Given the description of an element on the screen output the (x, y) to click on. 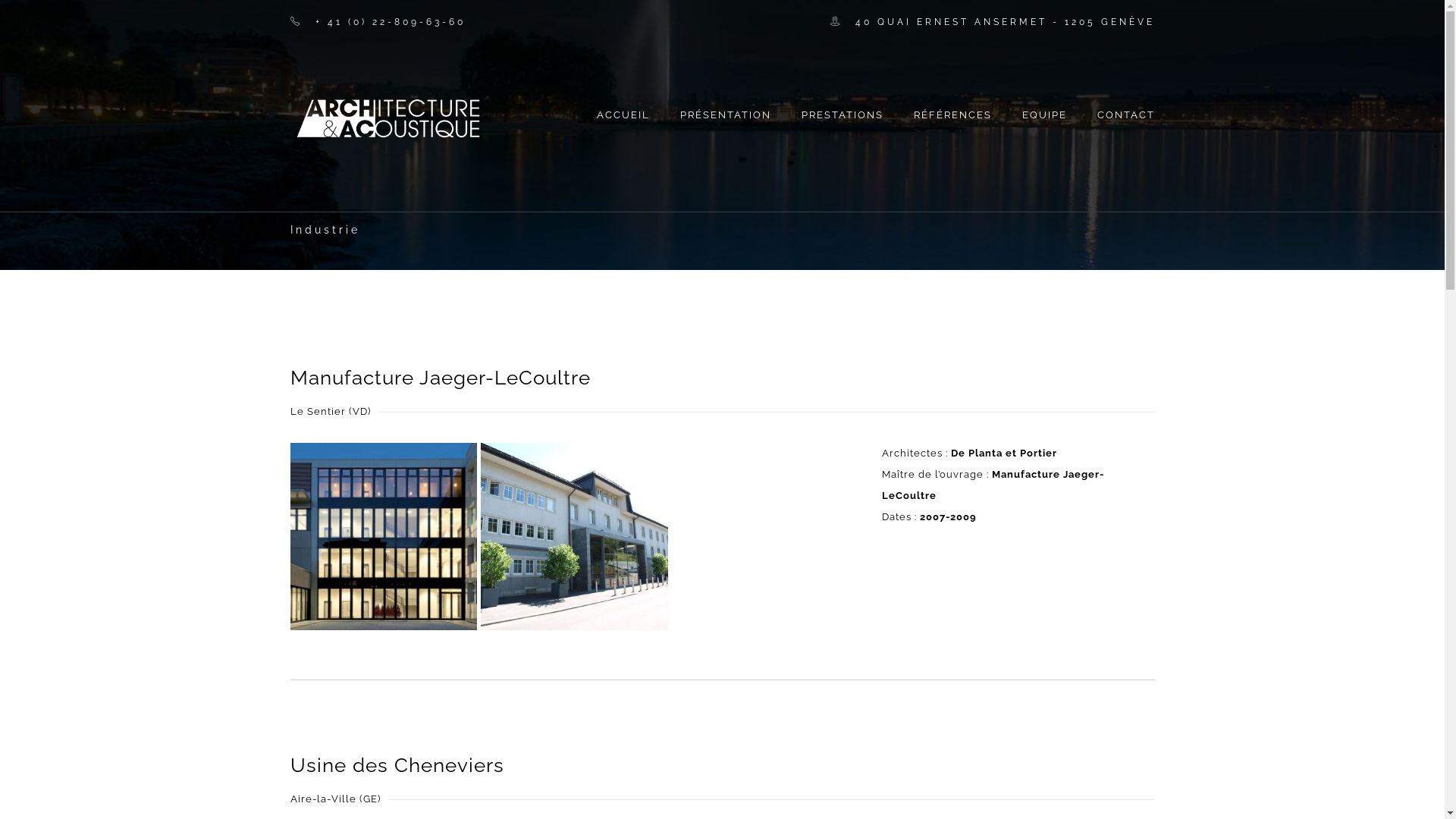
ACCUEIL Element type: text (622, 106)
CONTACT Element type: text (1117, 106)
Jaeger1 Element type: hover (382, 536)
OLYMPUS DIGITAL CAMERA Element type: hover (574, 536)
EQUIPE Element type: text (1044, 106)
PRESTATIONS Element type: text (841, 106)
